Given the description of an element on the screen output the (x, y) to click on. 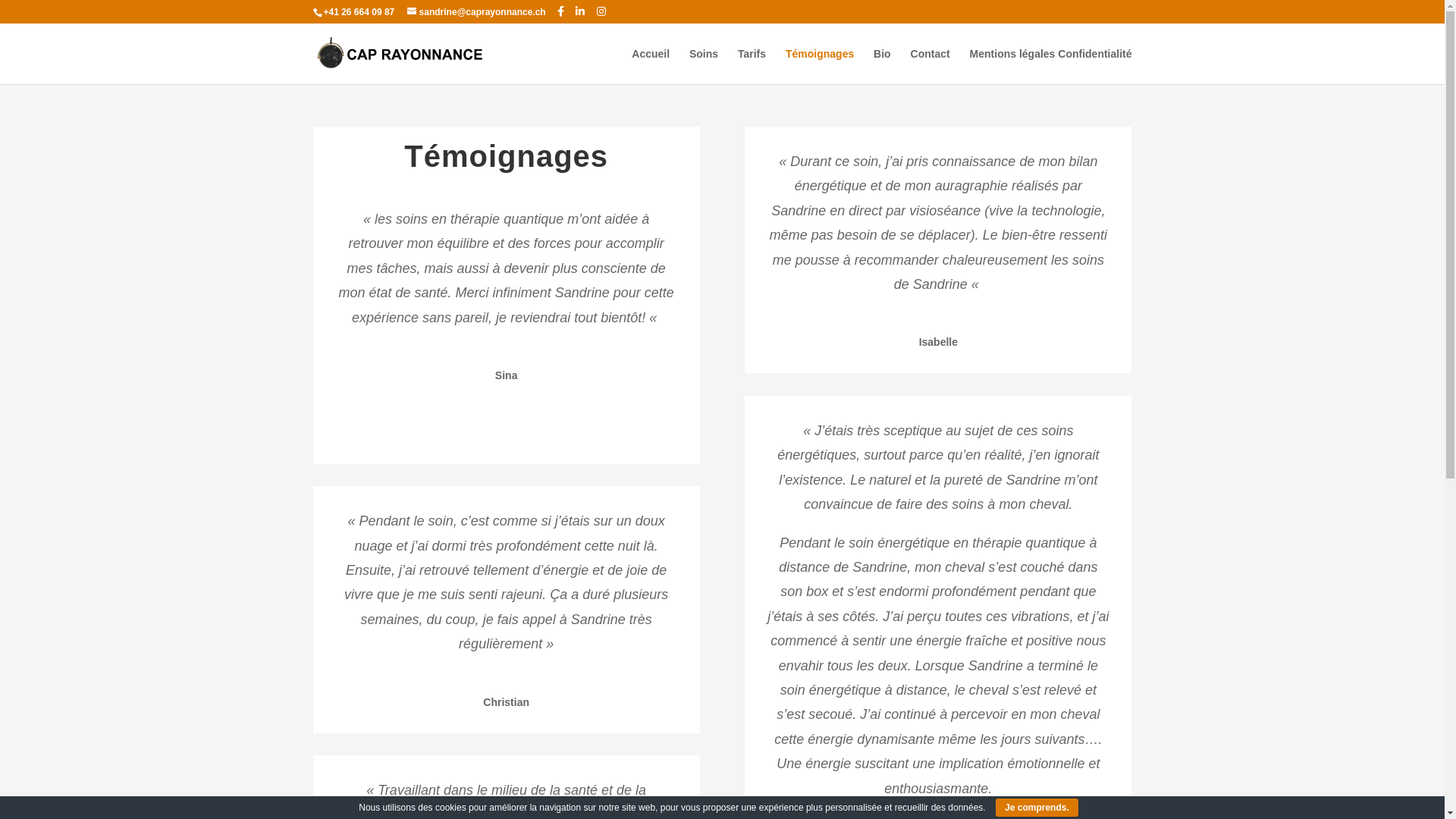
sandrine@caprayonnance.ch Element type: text (476, 11)
Soins Element type: text (703, 66)
Accueil Element type: text (650, 66)
Contact Element type: text (930, 66)
+41 26 664 09 87 Element type: text (358, 11)
Je comprends. Element type: text (1036, 807)
Tarifs Element type: text (751, 66)
Instagram Element type: hover (600, 11)
Facebook Element type: hover (560, 11)
Bio Element type: text (882, 66)
LinkedIn Element type: hover (579, 11)
